Given the description of an element on the screen output the (x, y) to click on. 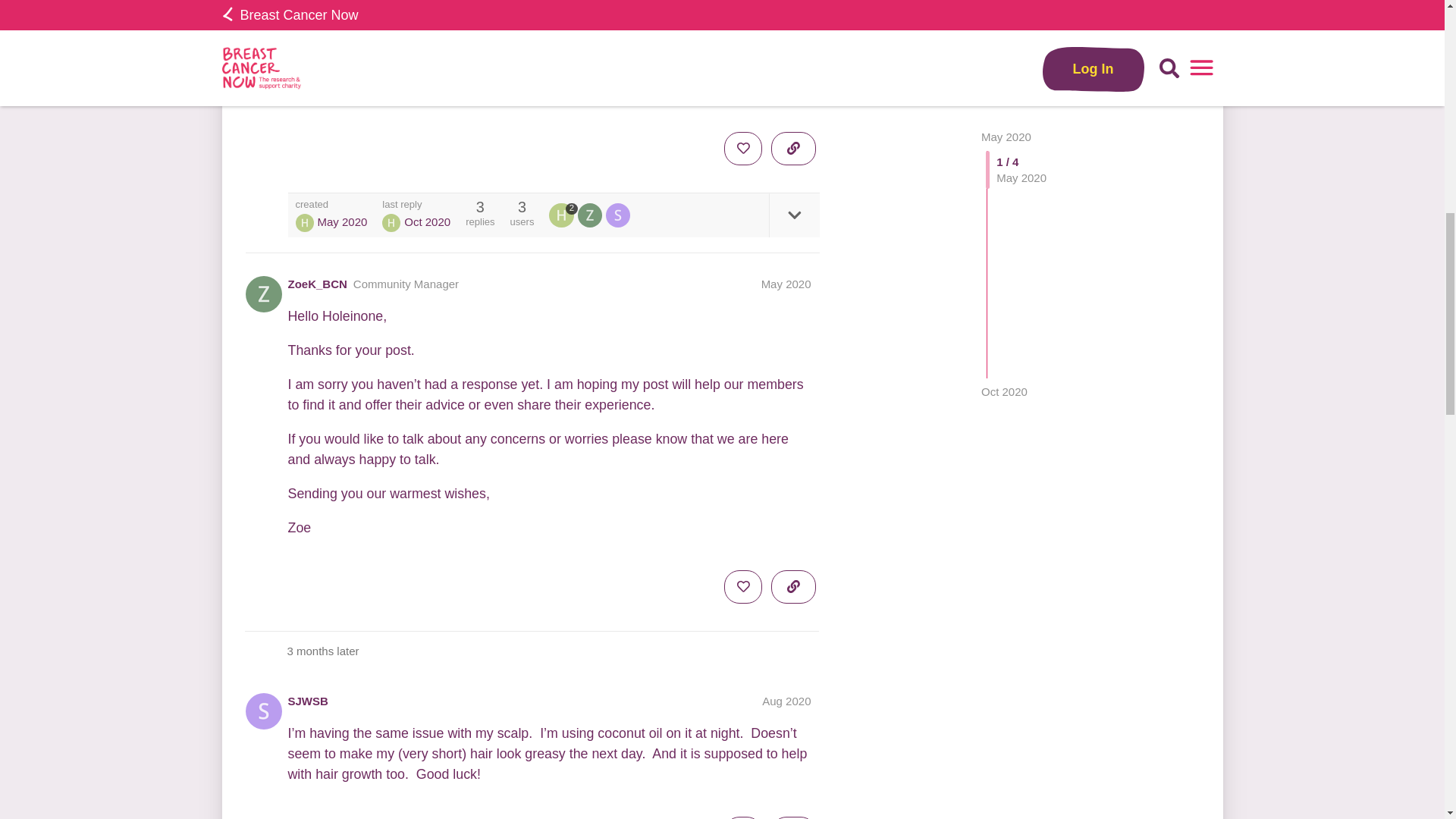
copy a link to this post to clipboard (793, 148)
Holeinone (390, 222)
Holeinone (304, 222)
15 Oct 2020 22:07 (426, 221)
last reply (415, 204)
Aug 2020 (785, 700)
Holeinone (560, 215)
like this post (742, 148)
2 (562, 215)
Oct 2020 (1004, 20)
May 2020 (785, 283)
expand topic details (793, 215)
SJWSB (308, 700)
Holeinone (562, 215)
21 May 2020 20:52 (341, 221)
